Given the description of an element on the screen output the (x, y) to click on. 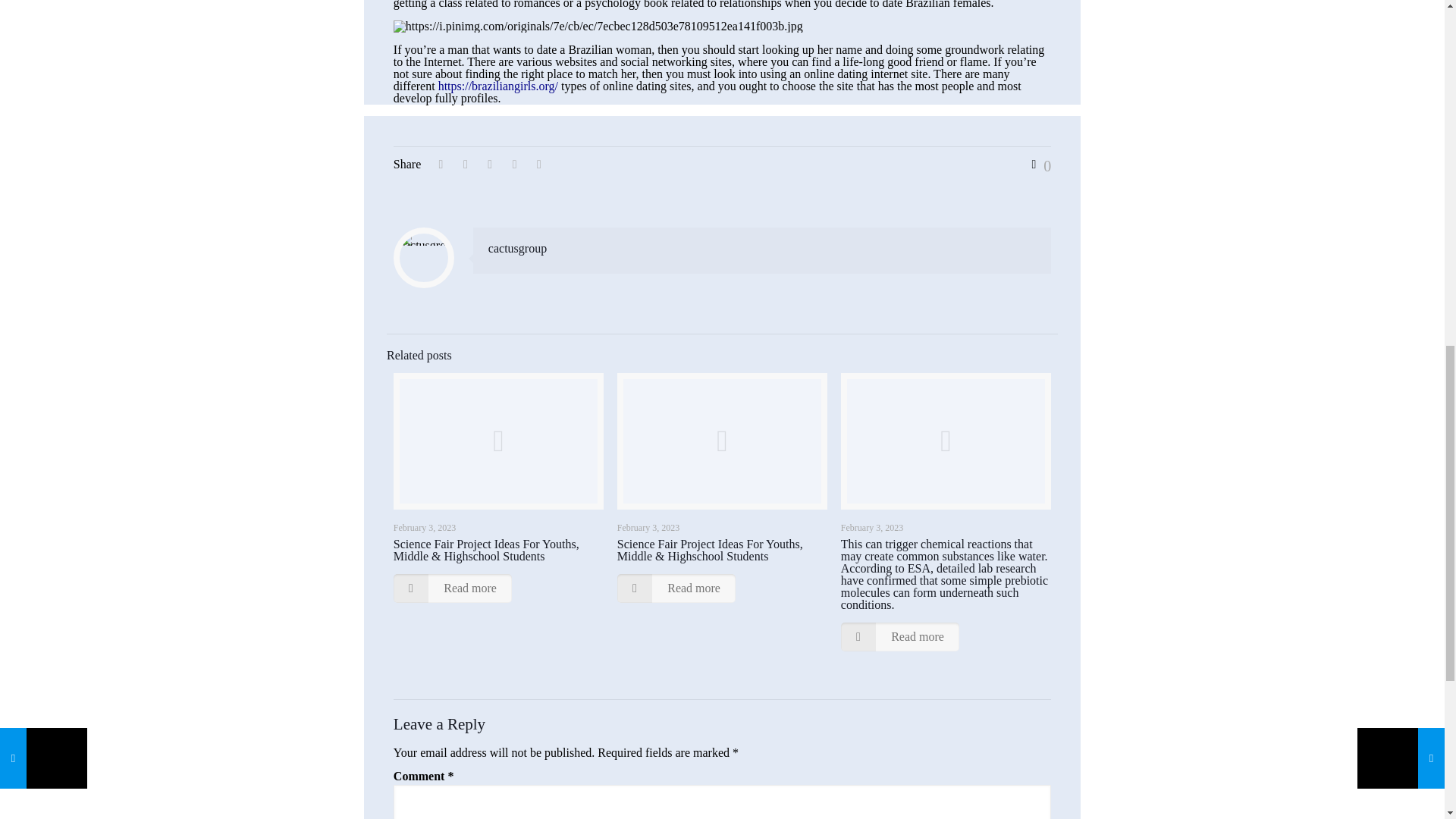
0 (1038, 165)
cactusgroup (517, 247)
Read more (900, 636)
Read more (676, 588)
Read more (452, 588)
